Given the description of an element on the screen output the (x, y) to click on. 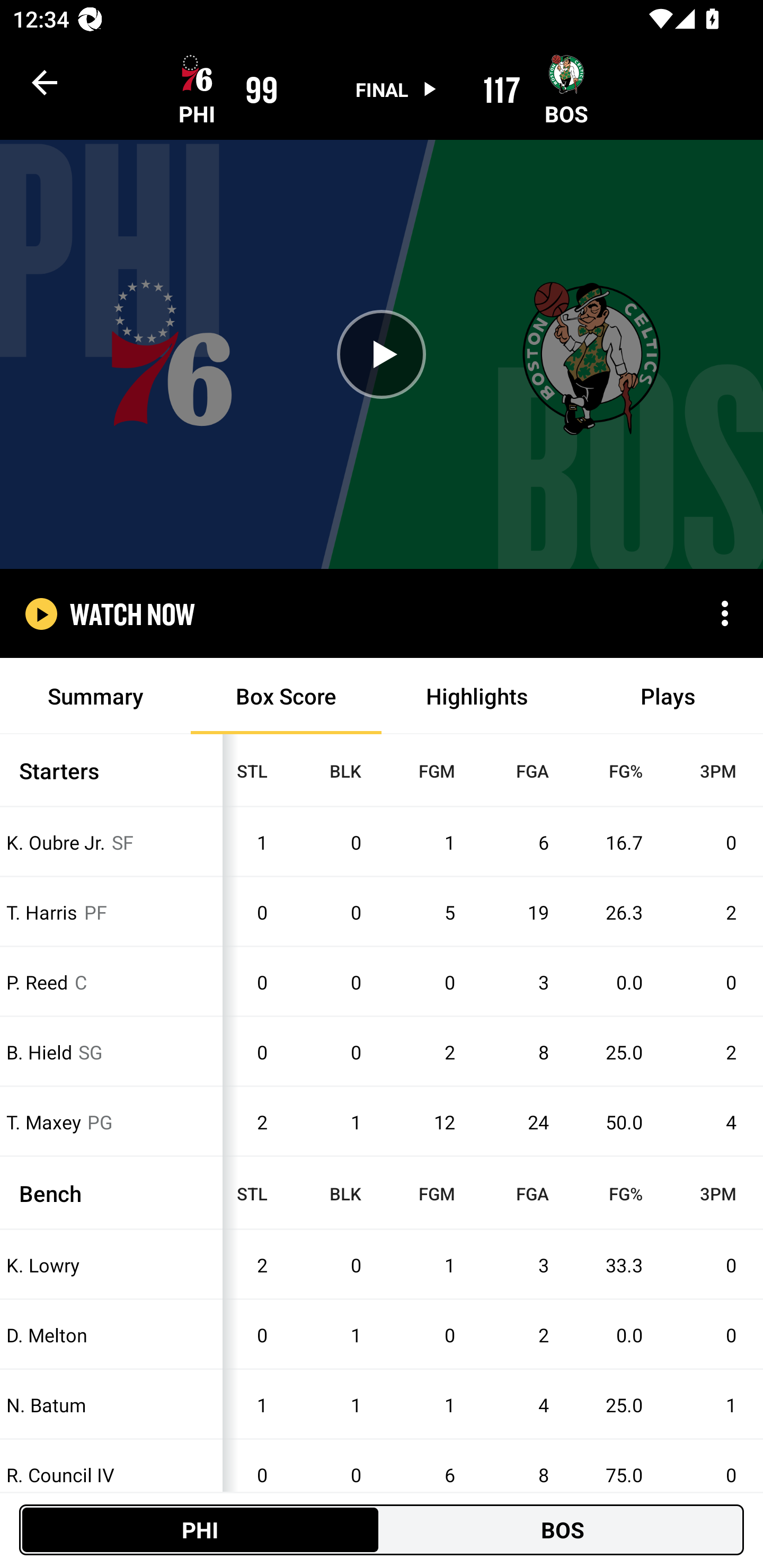
Navigate up (44, 82)
More options (724, 613)
WATCH NOW (132, 613)
Summary (95, 695)
Highlights (476, 695)
Plays (667, 695)
K. Oubre Jr. SF (111, 841)
T. Harris PF (111, 911)
P. Reed C (111, 982)
B. Hield SG (111, 1051)
T. Maxey PG (111, 1121)
K. Lowry (111, 1264)
D. Melton (111, 1334)
N. Batum (111, 1404)
R. Council IV (111, 1474)
BOS (562, 1529)
